Given the description of an element on the screen output the (x, y) to click on. 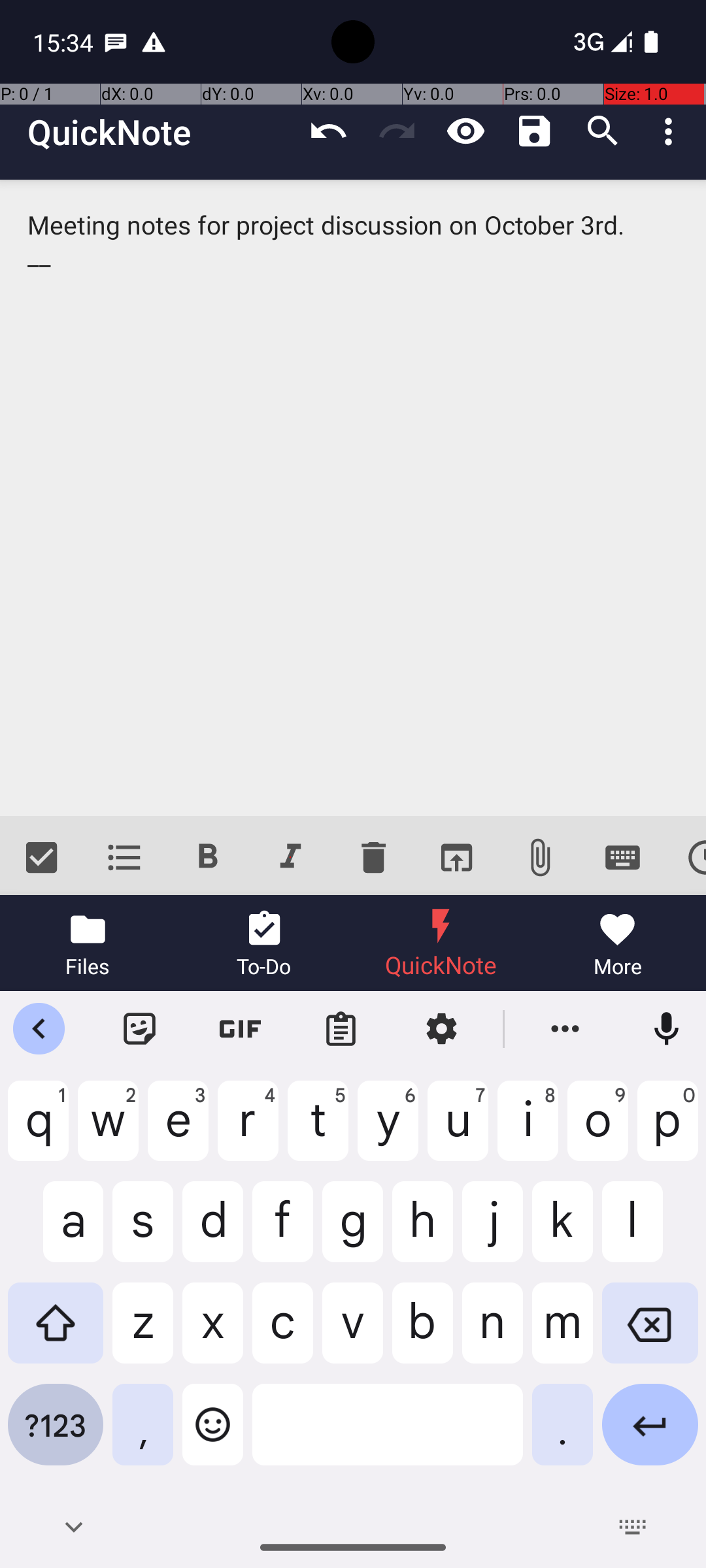
Meeting notes for project discussion on October 3rd.
__ Element type: android.widget.EditText (353, 497)
